Given the description of an element on the screen output the (x, y) to click on. 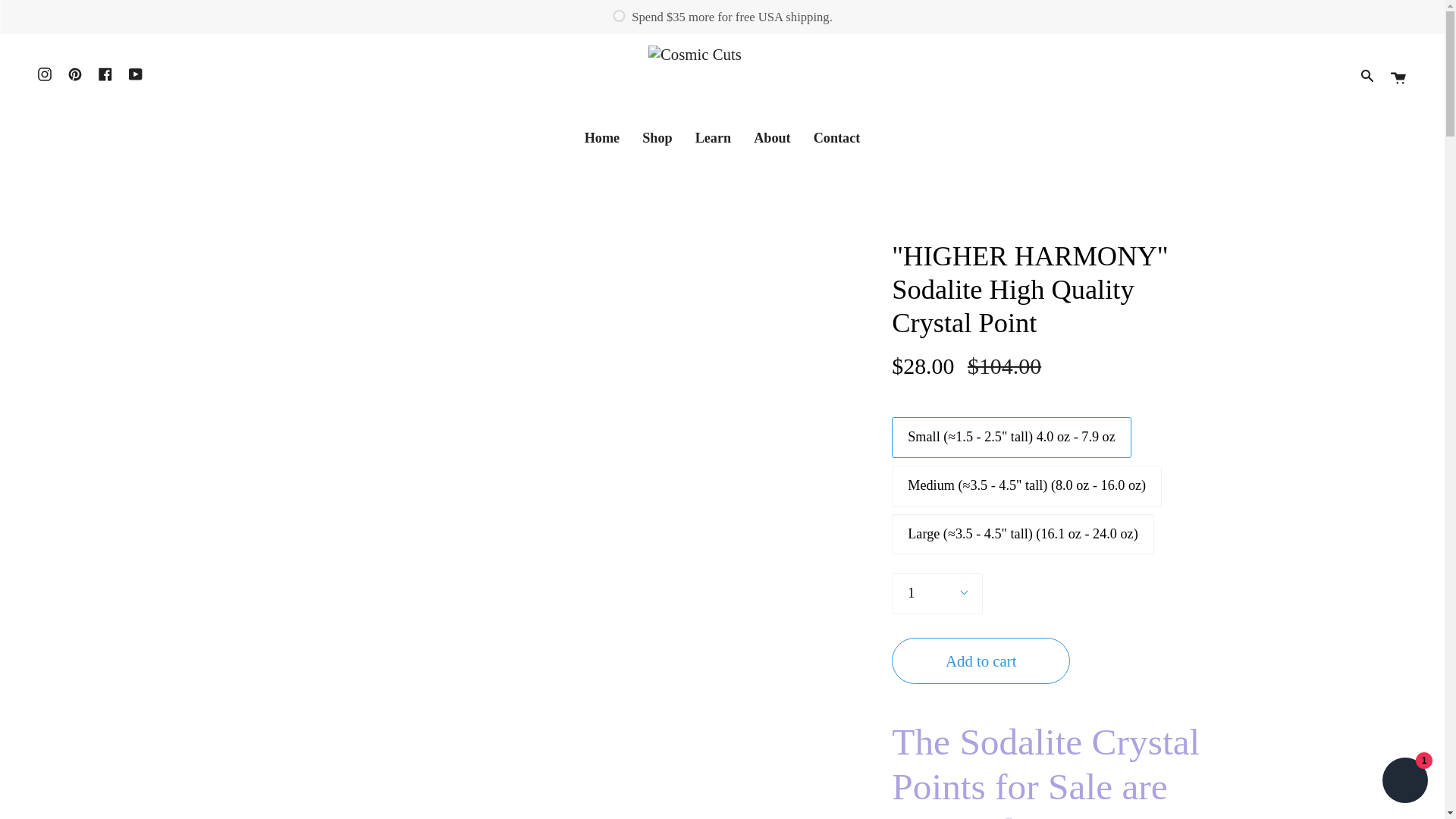
Home (601, 138)
Learn (713, 138)
About (772, 138)
Shop (656, 138)
